Given the description of an element on the screen output the (x, y) to click on. 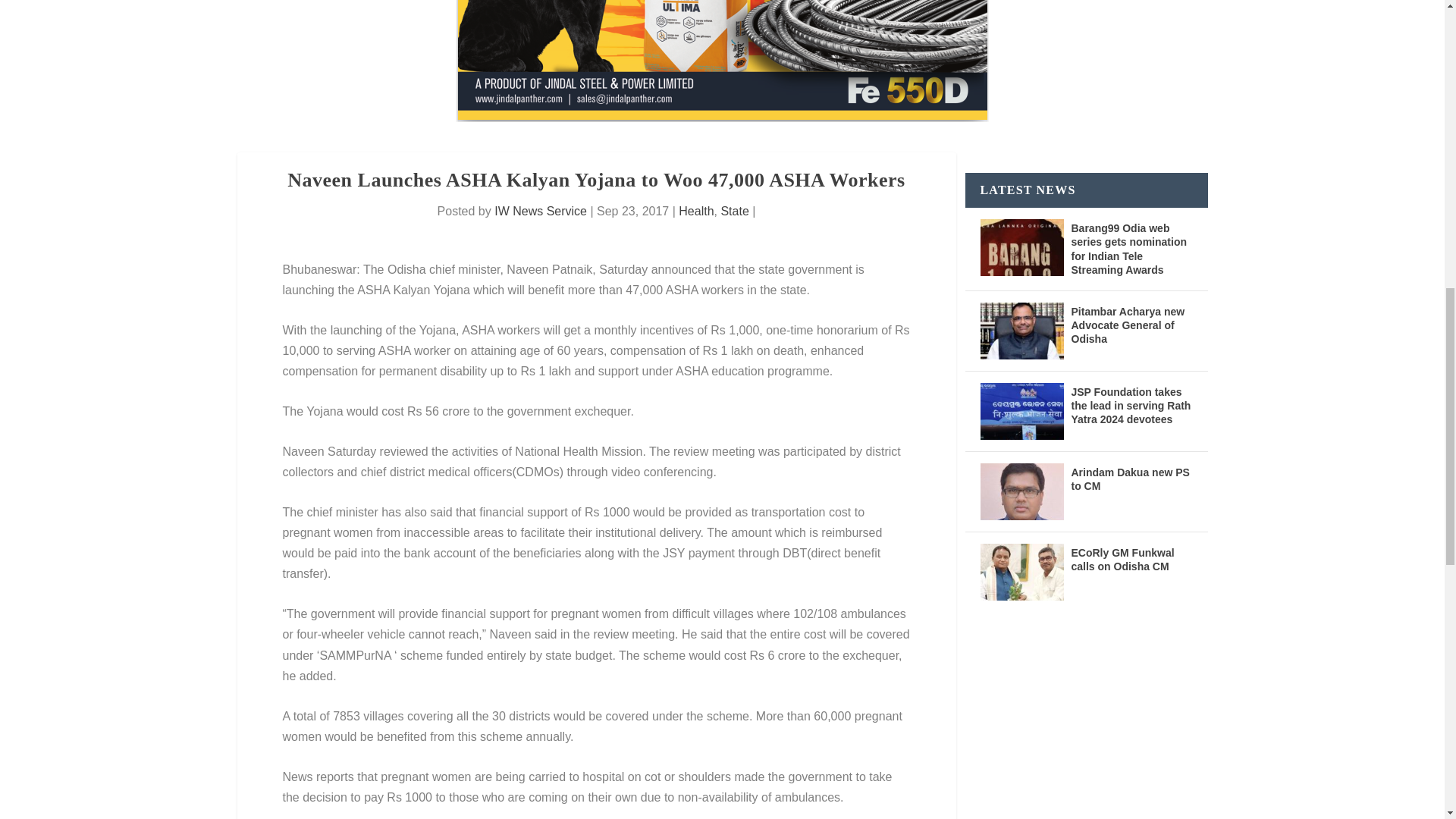
Pitambar Acharya new Advocate General of Odisha (1020, 330)
Posts by IW News Service (540, 210)
